Given the description of an element on the screen output the (x, y) to click on. 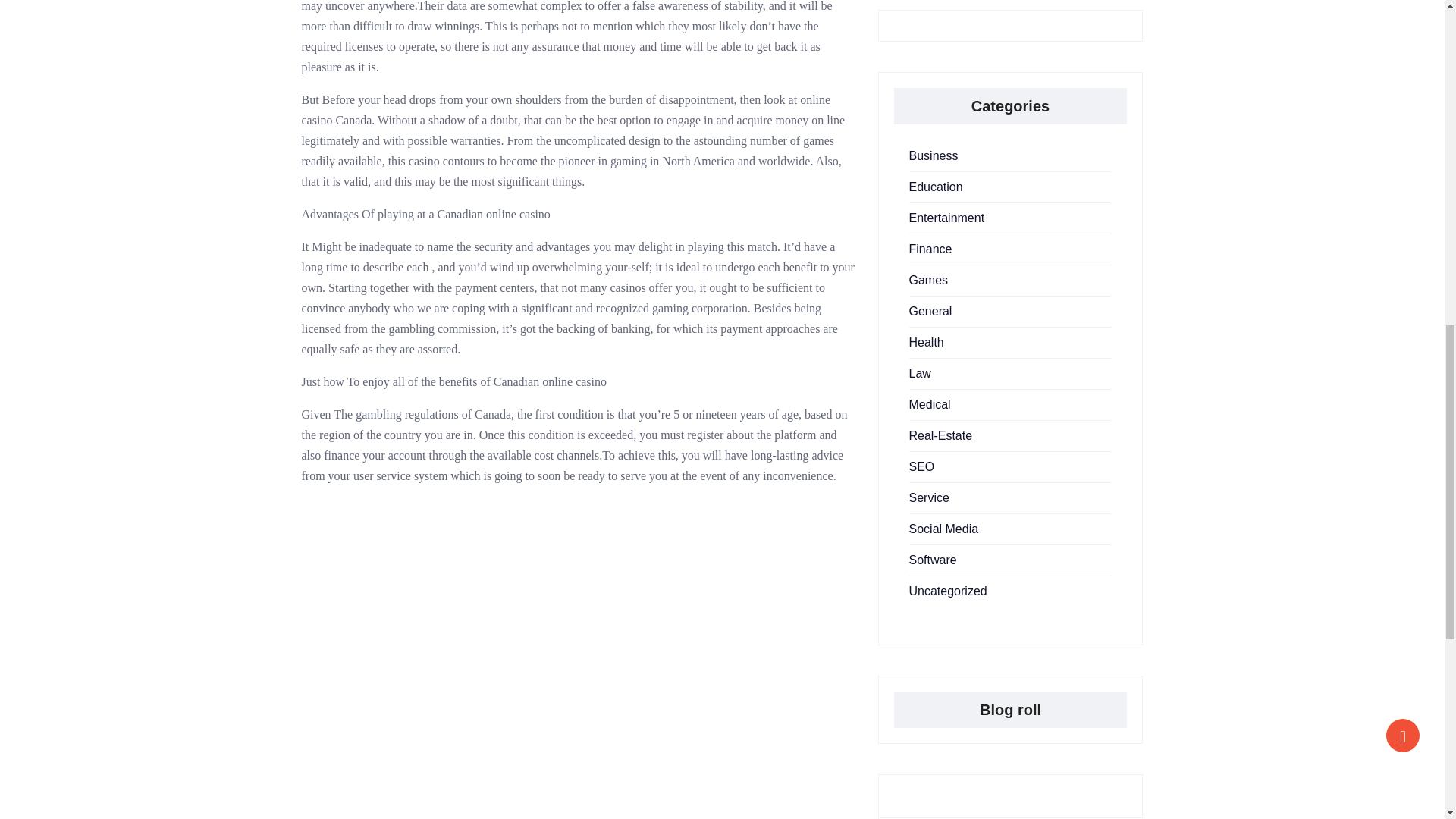
General (930, 310)
Medical (929, 404)
Business (933, 155)
Games (927, 279)
SEO (921, 466)
Software (932, 559)
Law (919, 373)
Education (935, 186)
Entertainment (946, 217)
Social Media (943, 528)
